Given the description of an element on the screen output the (x, y) to click on. 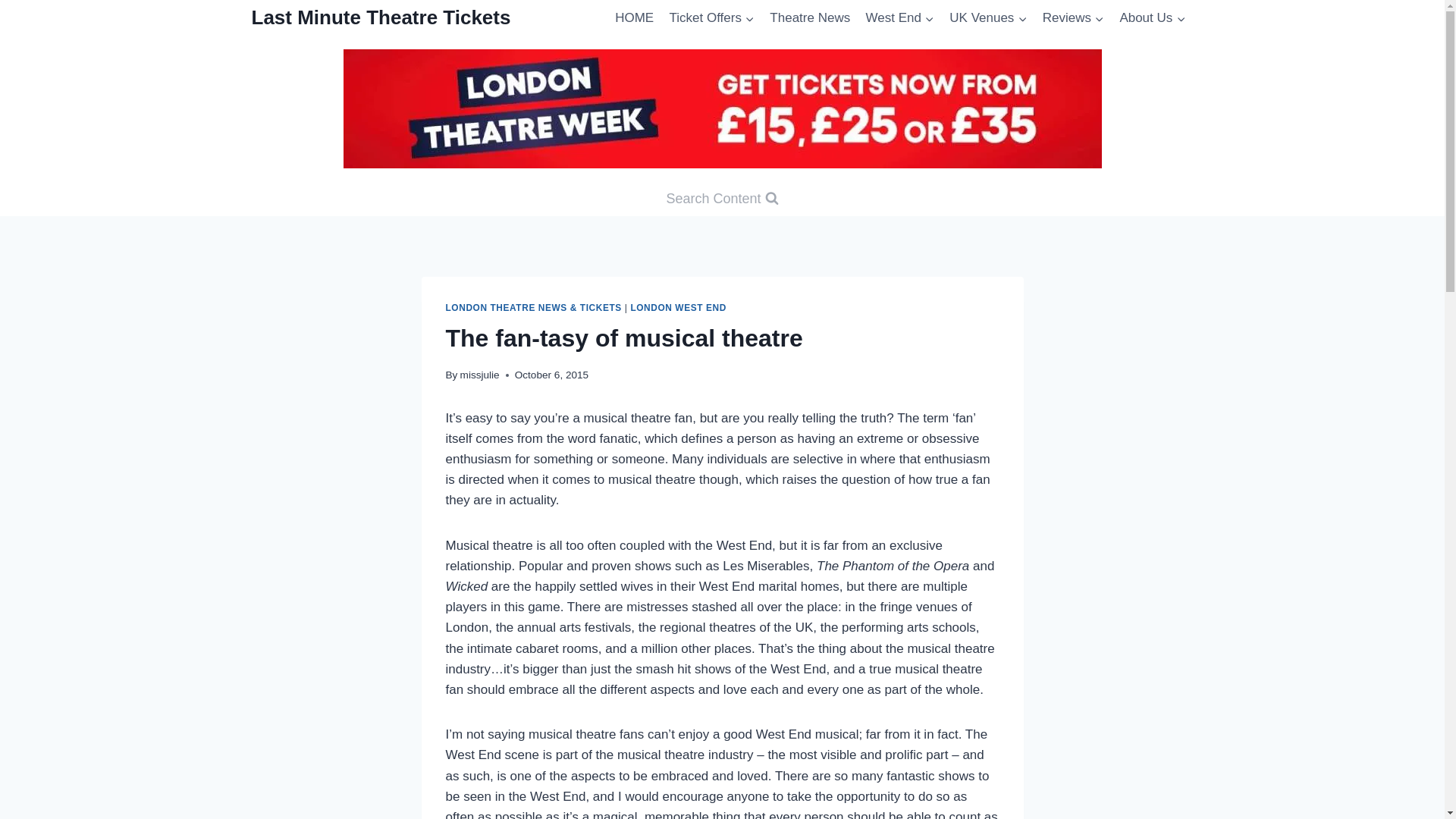
London Theatre Reviews (1073, 18)
Reviews (1073, 18)
UK Venues (987, 18)
London Theatre Week (721, 108)
Theatre News (809, 18)
West End (899, 18)
Last Minute Theatre Tickets (381, 17)
HOME (634, 18)
About Us (1152, 18)
West End Theatres (899, 18)
